Given the description of an element on the screen output the (x, y) to click on. 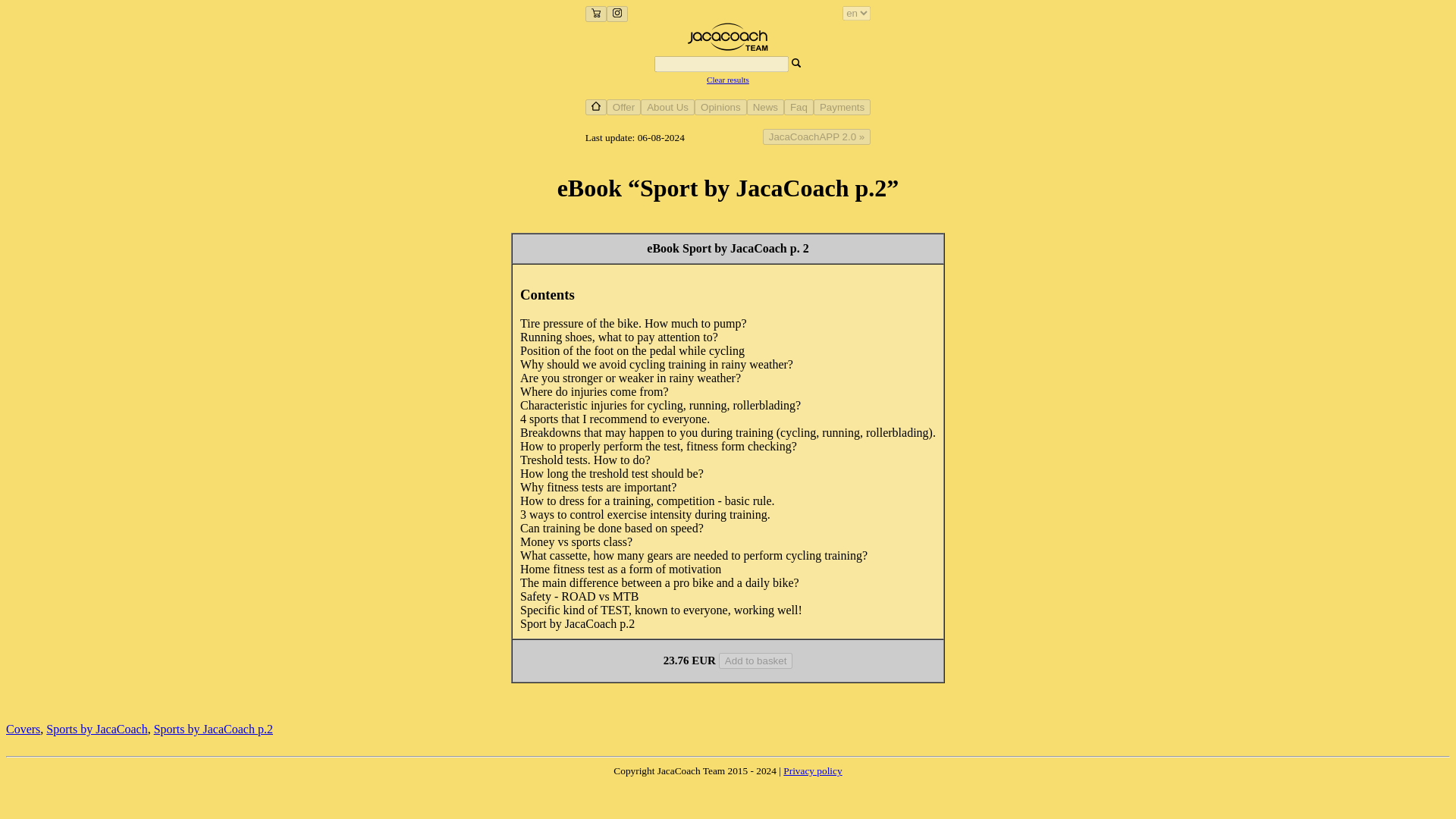
Athletes opinions about JacaCoach (720, 106)
Sports by JacaCoach (96, 728)
About Us (667, 106)
Opinions (720, 106)
News (765, 107)
JacaCoach (727, 48)
Offer (623, 107)
Whats new on JacaCoach Team (765, 106)
Faq (798, 107)
Payments (841, 106)
News (765, 106)
About JacaCoach, cycling, triathlon and running trainer (667, 106)
Payments (841, 107)
Offer (623, 106)
About Us (667, 107)
